Given the description of an element on the screen output the (x, y) to click on. 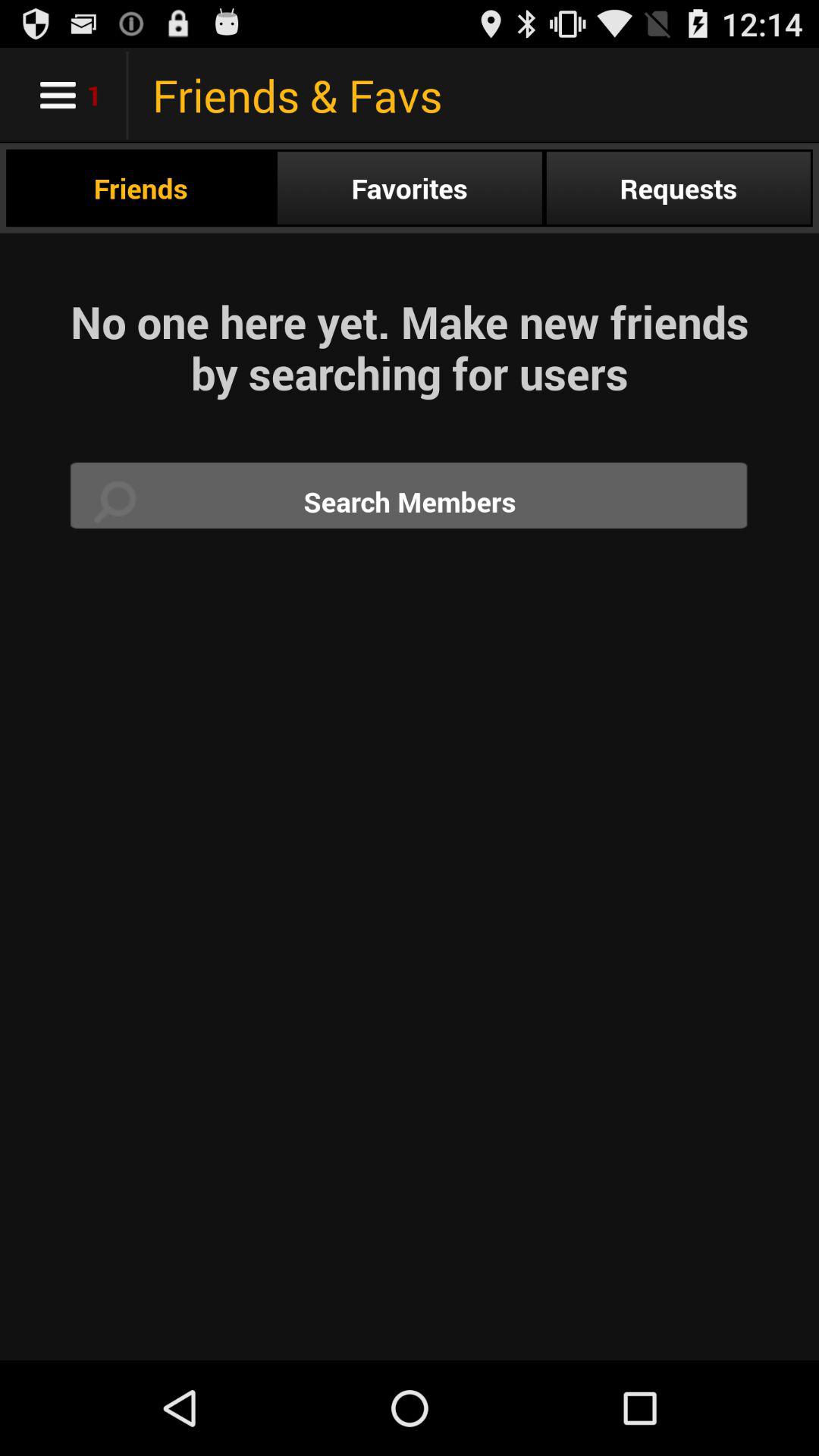
jump to the requests (678, 187)
